Given the description of an element on the screen output the (x, y) to click on. 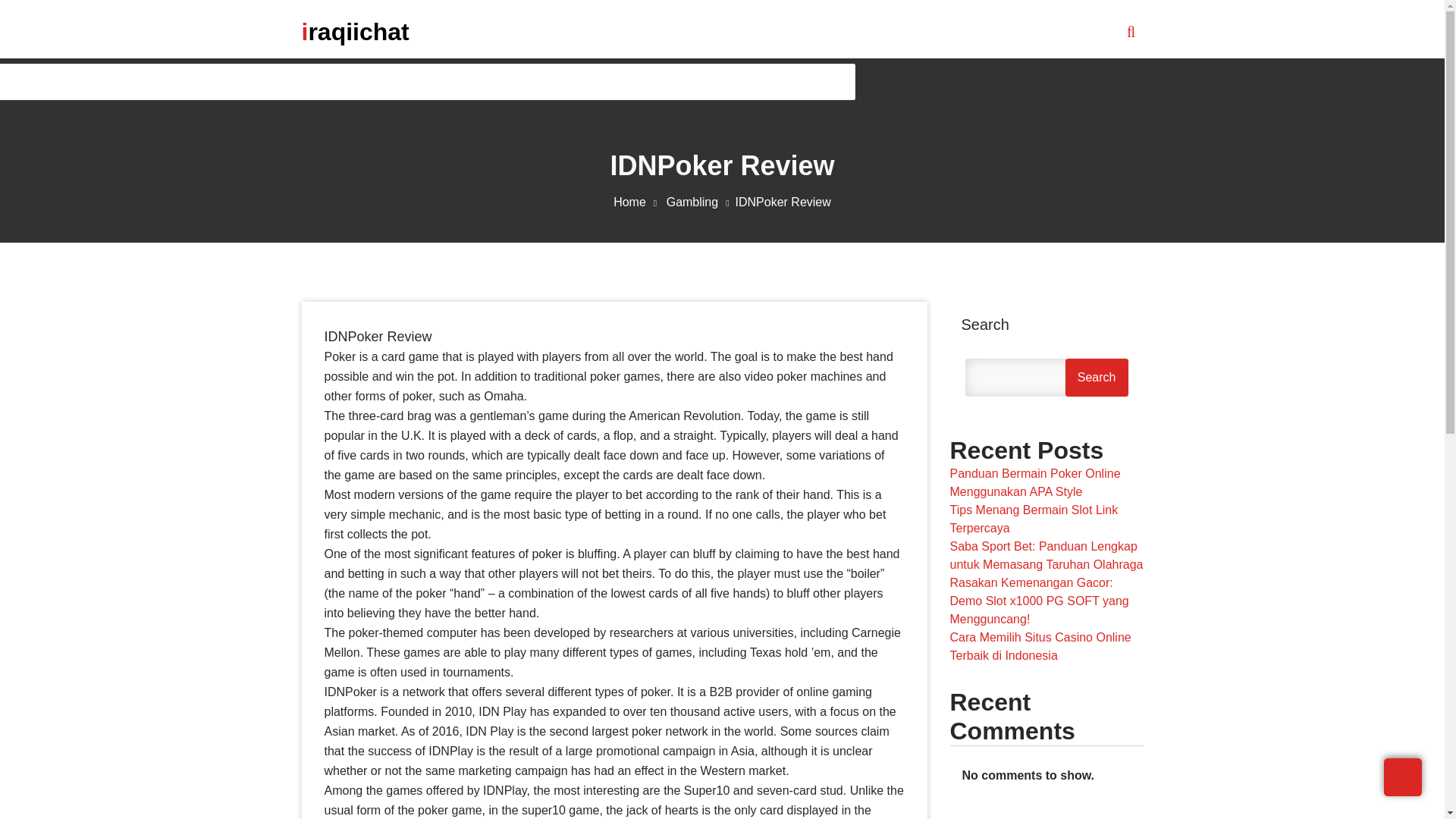
iraqiichat (355, 31)
Cara Memilih Situs Casino Online Terbaik di Indonesia (1040, 645)
Home (637, 201)
Tips Menang Bermain Slot Link Terpercaya (1033, 518)
Search (1096, 377)
Panduan Bermain Poker Online Menggunakan APA Style (1034, 481)
Gambling (700, 201)
